Given the description of an element on the screen output the (x, y) to click on. 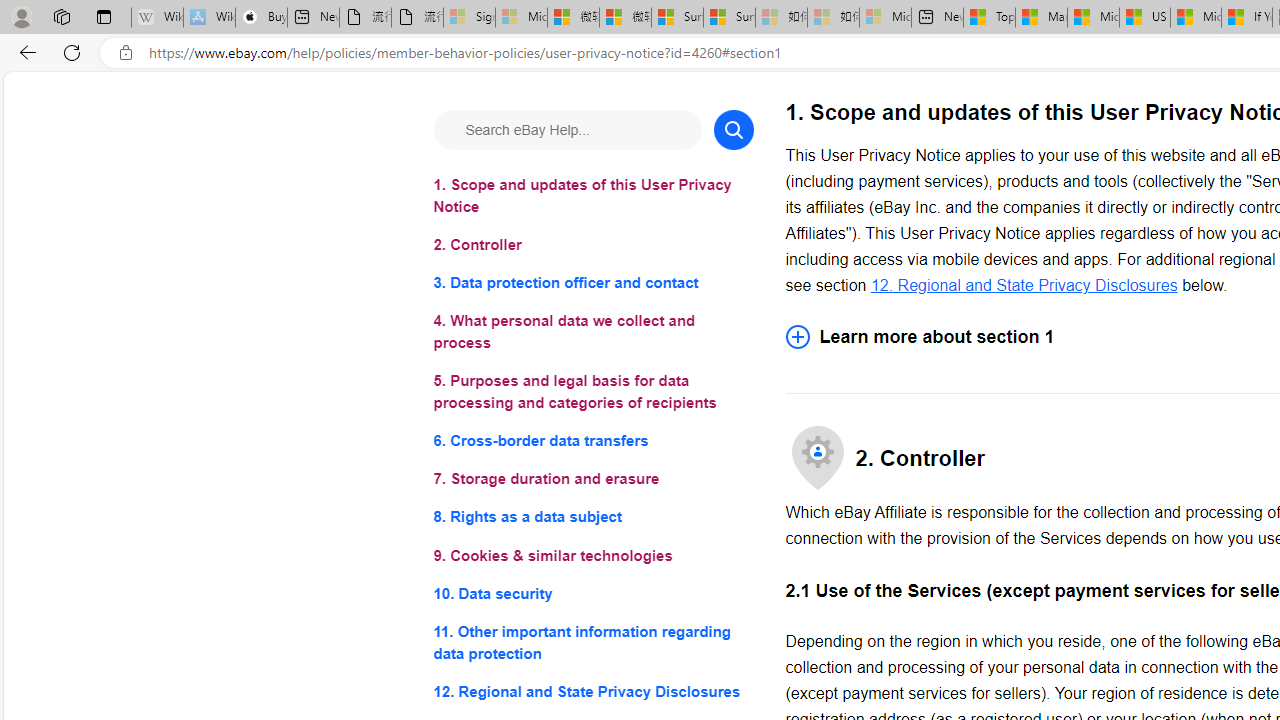
8. Rights as a data subject (592, 517)
6. Cross-border data transfers (592, 440)
10. Data security (592, 592)
11. Other important information regarding data protection (592, 642)
Buy iPad - Apple (260, 17)
3. Data protection officer and contact (592, 283)
7. Storage duration and erasure (592, 479)
4. What personal data we collect and process (592, 332)
Microsoft account | Account Checkup - Sleeping (885, 17)
11. Other important information regarding data protection (592, 642)
8. Rights as a data subject (592, 517)
